Given the description of an element on the screen output the (x, y) to click on. 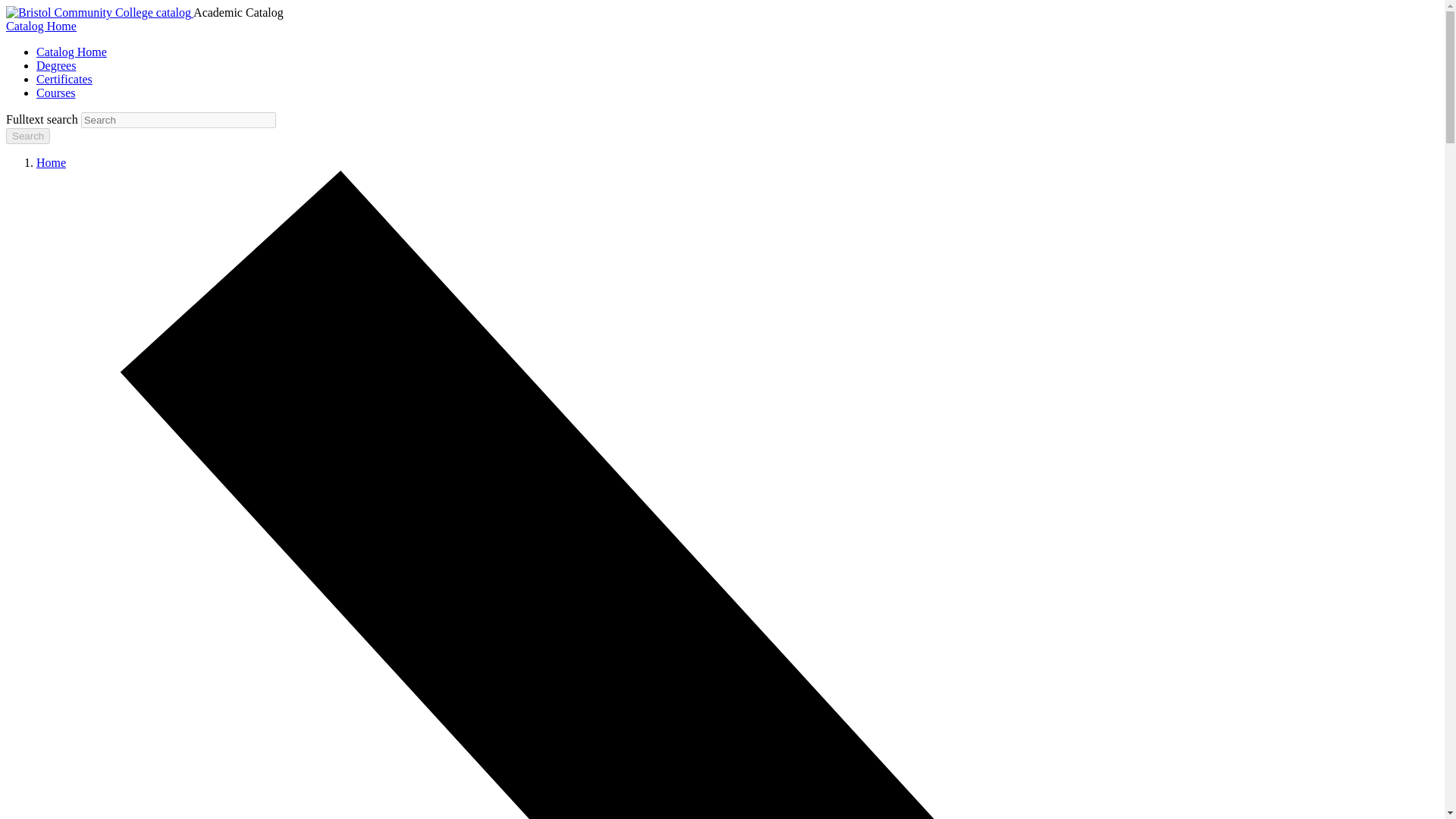
Catalog Home (71, 51)
Search (27, 135)
Degrees (55, 65)
Courses (55, 92)
Certificates (64, 78)
Catalog Home (41, 25)
Search (27, 135)
